Given the description of an element on the screen output the (x, y) to click on. 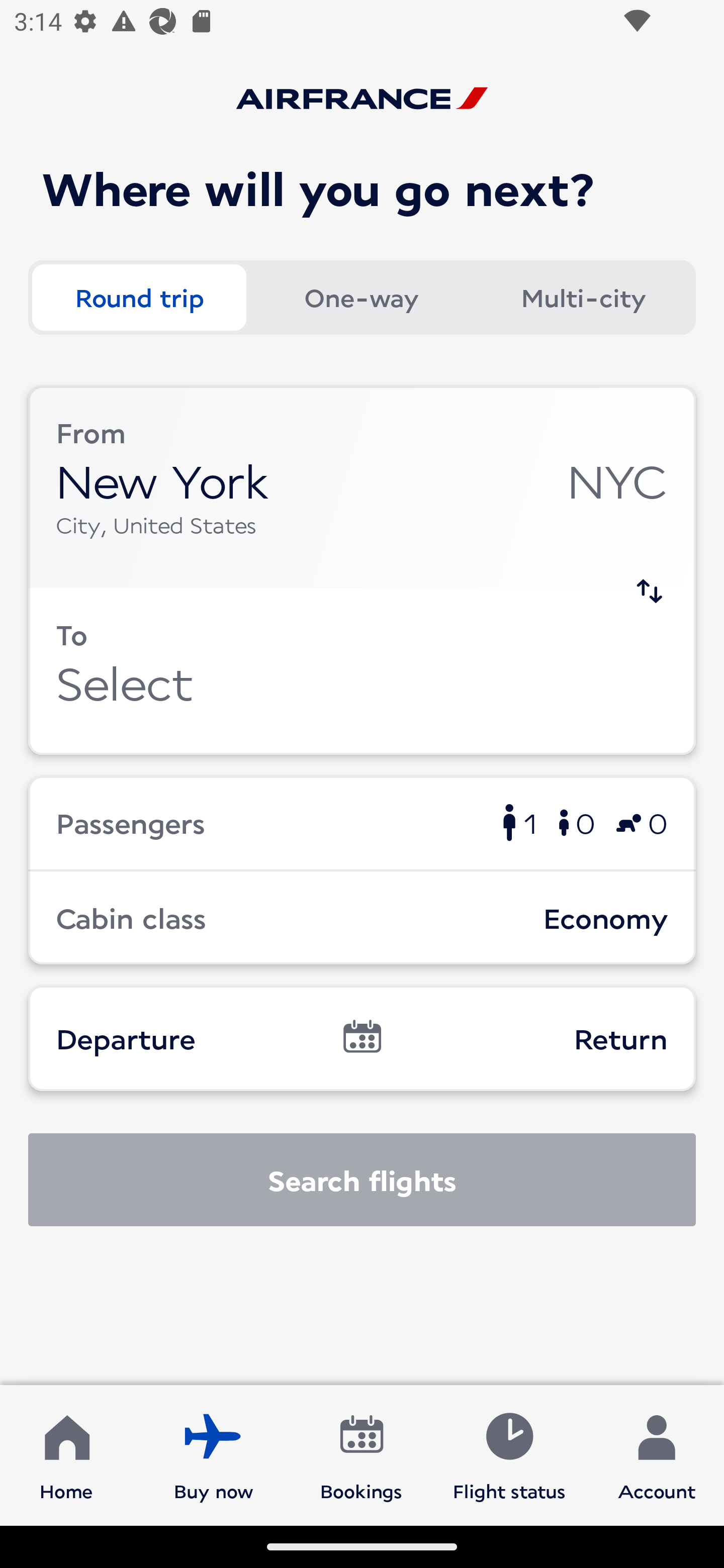
Round trip (139, 297)
One-way (361, 297)
Multi-city (583, 297)
From New York NYC City, United States (361, 486)
To Select (361, 671)
Passengers 1 0 0 (361, 822)
Cabin class Economy (361, 917)
Departure Return (361, 1038)
Search flights (361, 1179)
Home (66, 1454)
Bookings (361, 1454)
Flight status (509, 1454)
Account (657, 1454)
